Given the description of an element on the screen output the (x, y) to click on. 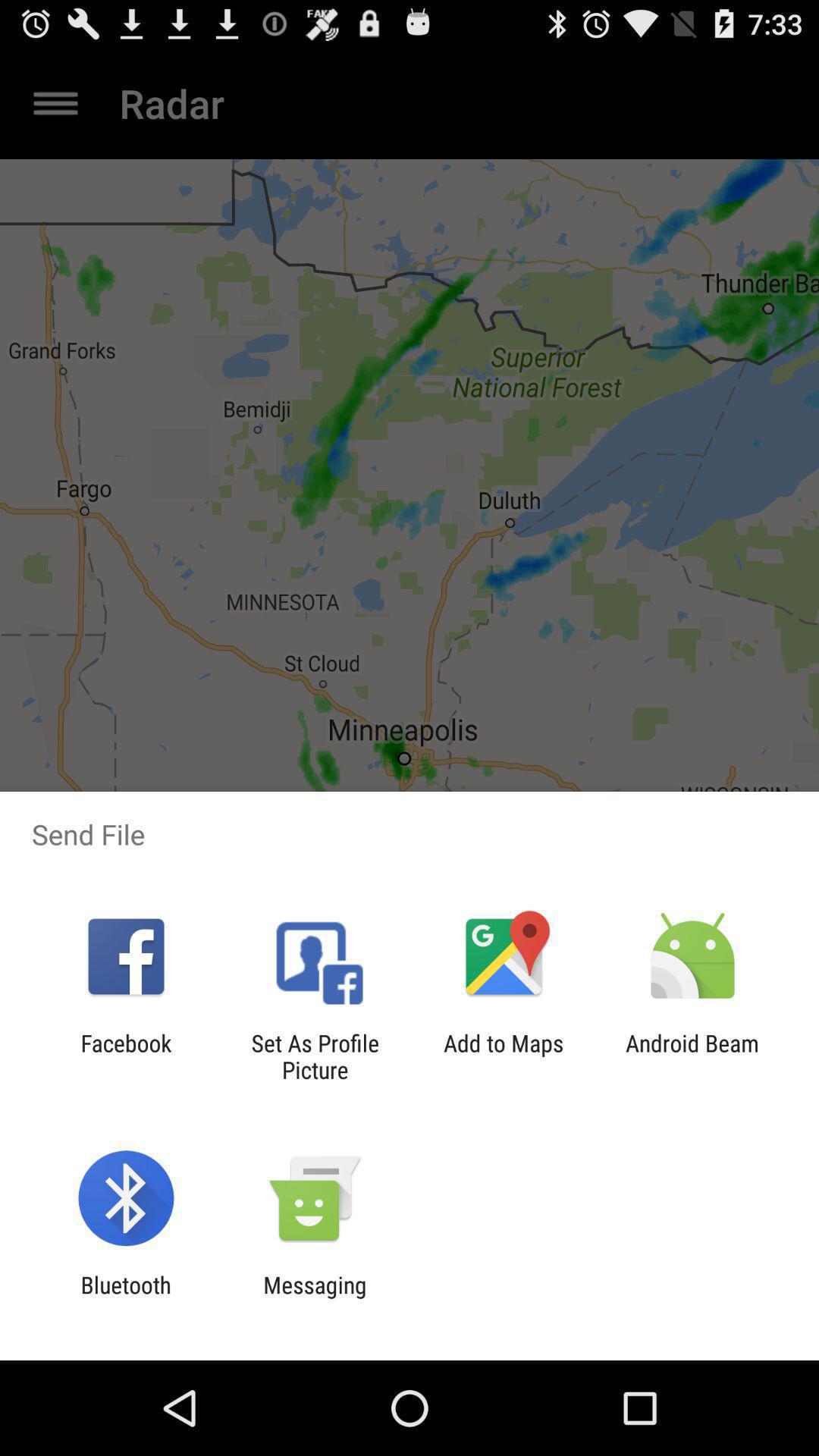
click the app next to the facebook (314, 1056)
